Given the description of an element on the screen output the (x, y) to click on. 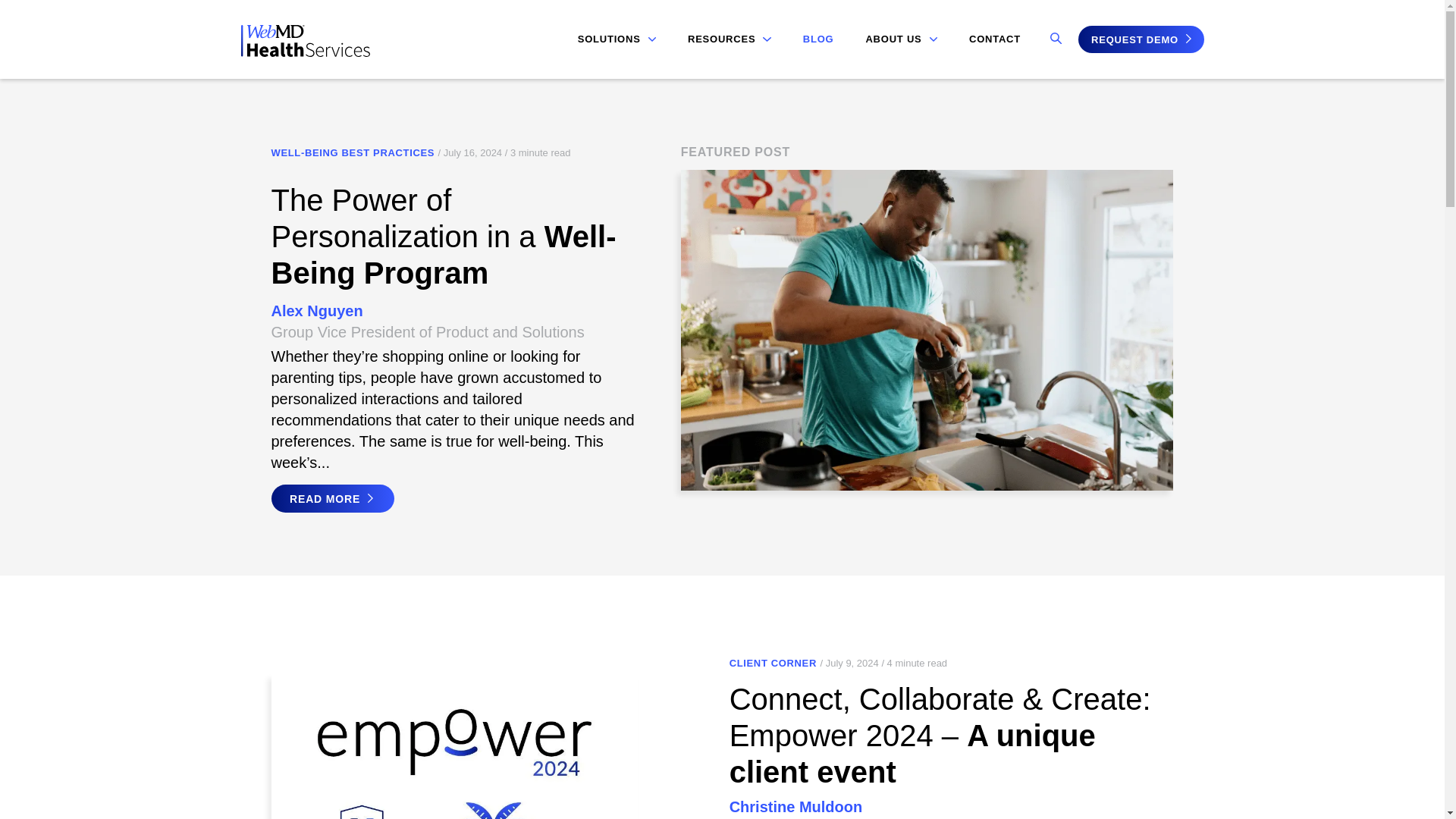
REQUEST DEMO (1141, 39)
ABOUT US (900, 39)
CLIENT CORNER (772, 663)
CONTACT (994, 39)
READ MORE (332, 498)
WELL-BEING BEST PRACTICES (352, 152)
Posts by Alex Nguyen (316, 311)
Christine Muldoon (796, 806)
WebMD Health Services (305, 51)
The Power of Personalization in a Well-Being Program (442, 236)
RESOURCES (729, 39)
SOLUTIONS (616, 39)
Posts by Christine Muldoon (796, 806)
Alex Nguyen (316, 311)
